Given the description of an element on the screen output the (x, y) to click on. 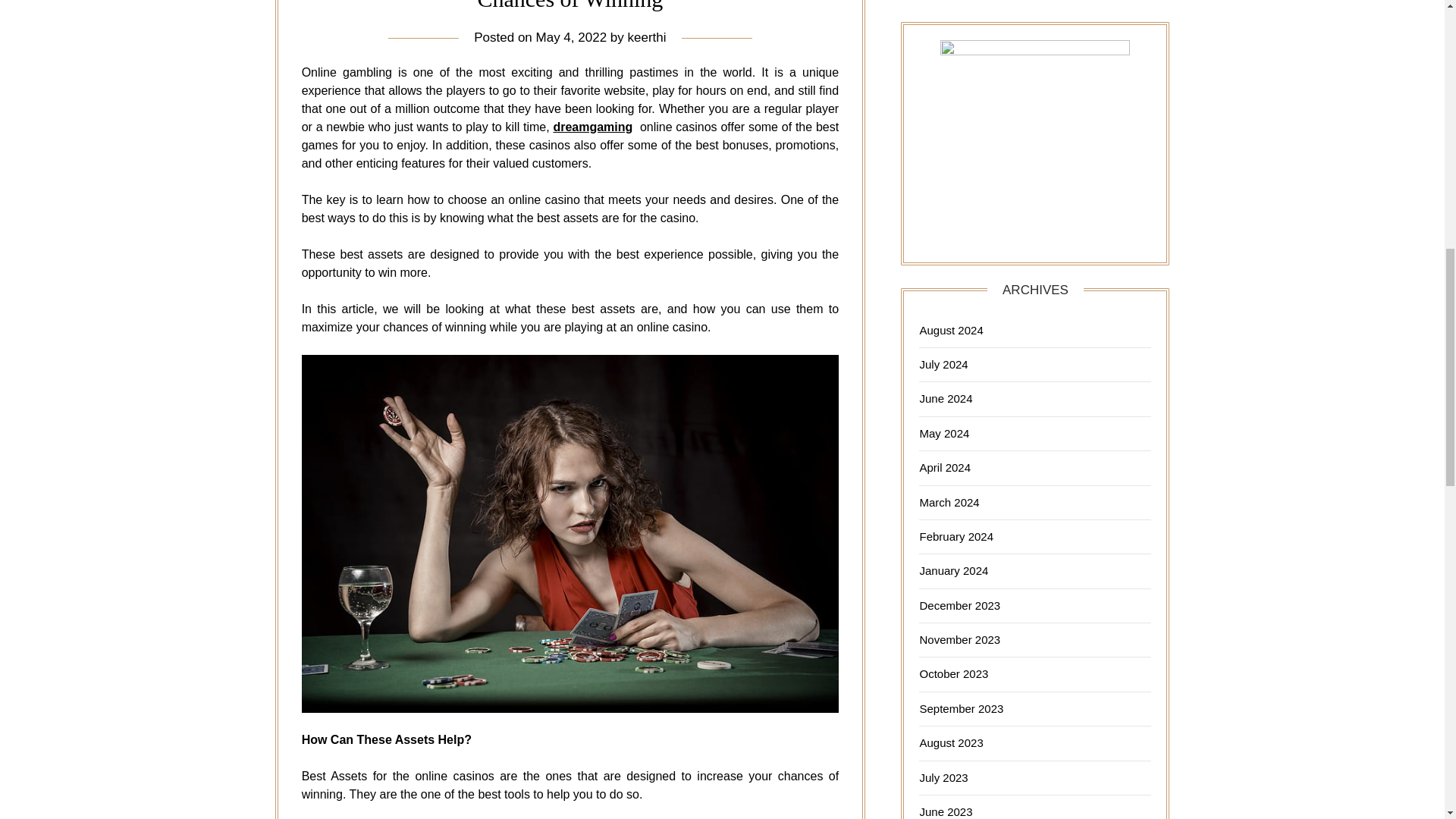
June 2024 (945, 398)
August 2024 (950, 329)
January 2024 (953, 570)
October 2023 (953, 673)
July 2024 (943, 364)
keerthi (646, 37)
dreamgaming (592, 126)
February 2024 (955, 535)
March 2024 (948, 502)
May 2024 (943, 432)
